Given the description of an element on the screen output the (x, y) to click on. 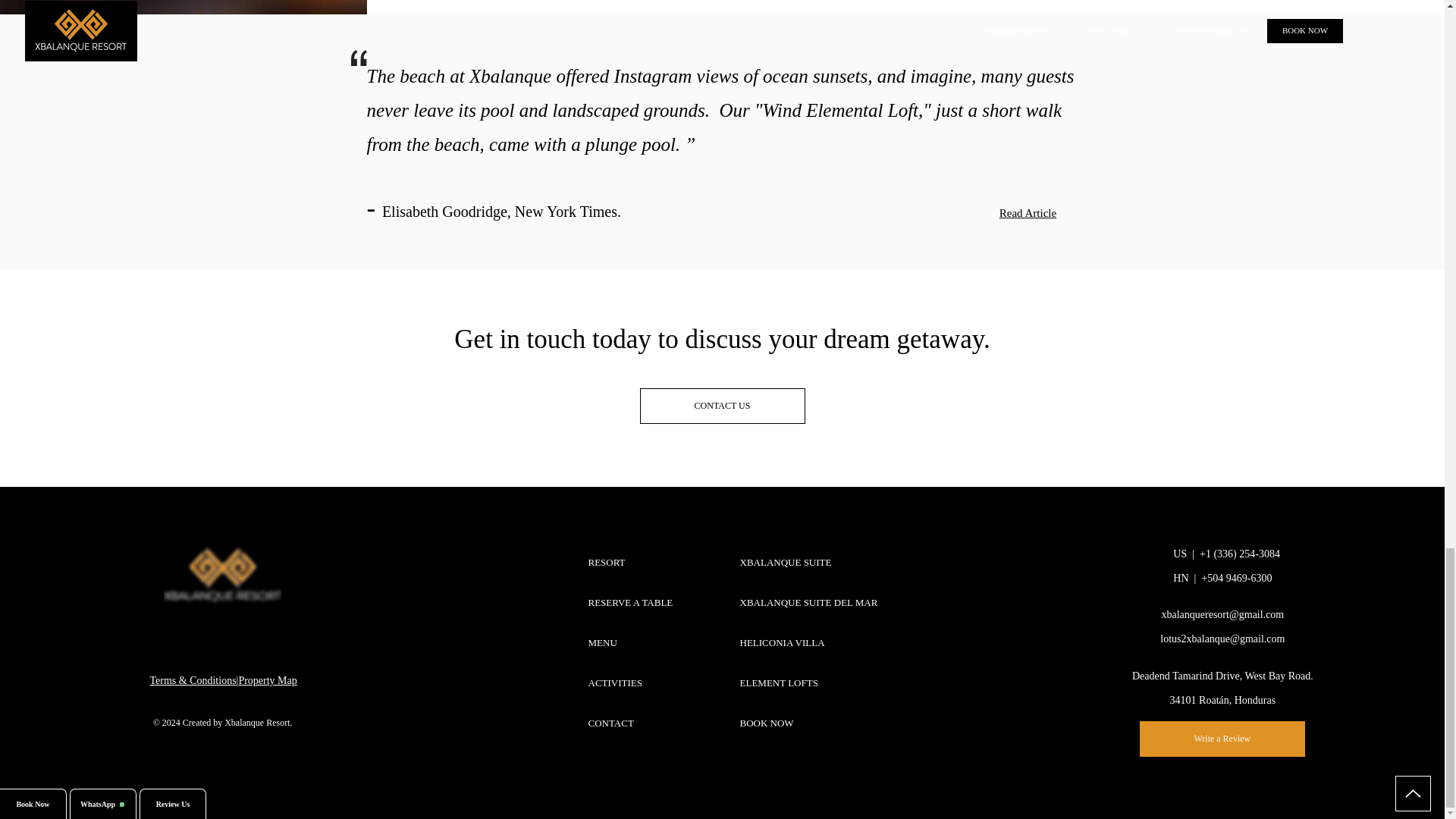
XBALANQUE SUITE (810, 562)
CONTACT US (722, 406)
Read Article (1027, 214)
Property Map (267, 680)
RESERVE A TABLE (629, 602)
HELICONIA VILLA (810, 642)
BOOK NOW (810, 722)
Xbalanque Resort logo (222, 575)
RESORT (629, 562)
MENU (629, 642)
CONTACT (629, 722)
XBALANQUE SUITE DEL MAR (810, 602)
ELEMENT LOFTS (810, 682)
ACTIVITIES (629, 682)
